Given the description of an element on the screen output the (x, y) to click on. 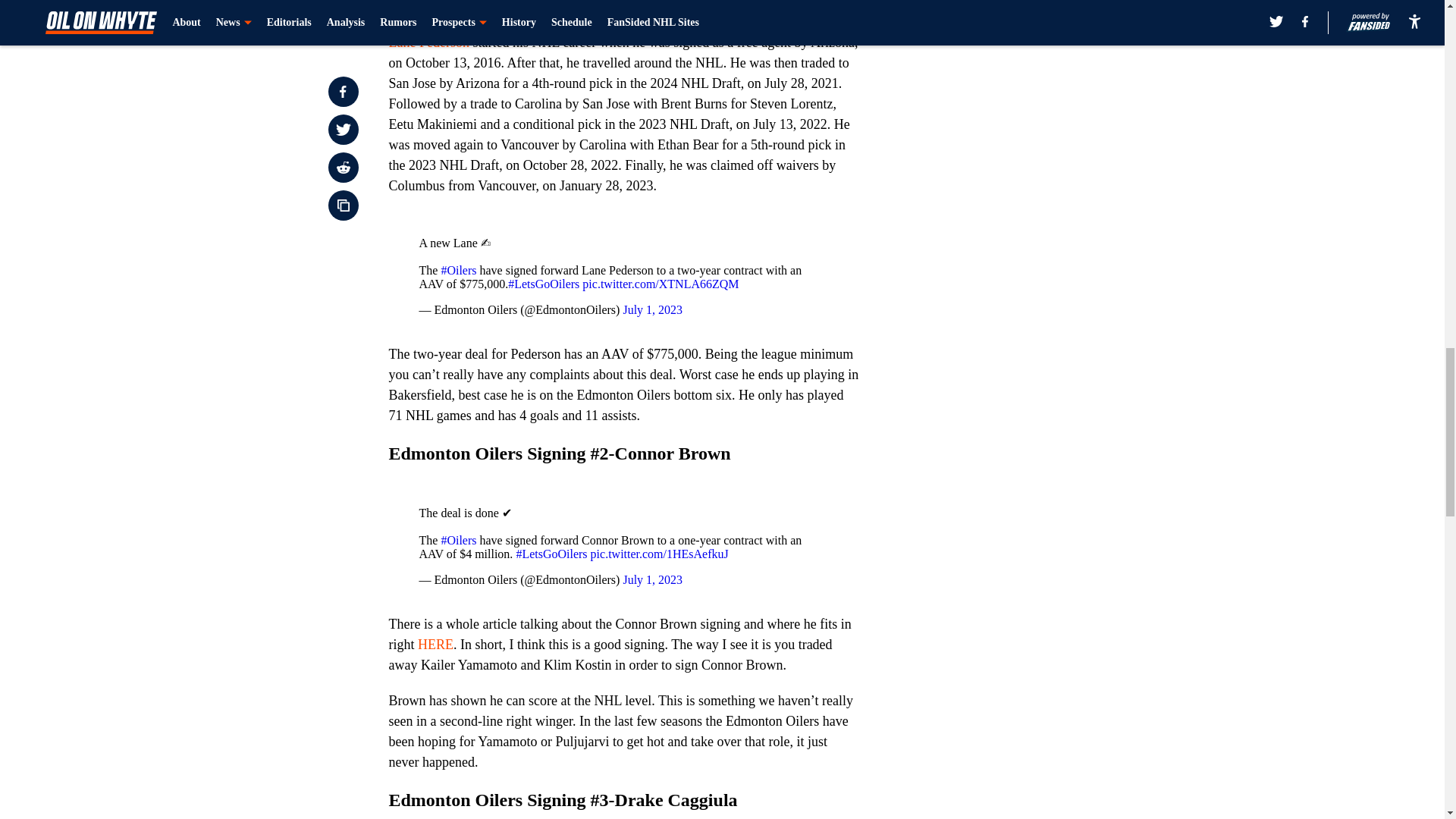
HERE (434, 644)
Lane Pederson (428, 42)
July 1, 2023 (652, 579)
July 1, 2023 (652, 309)
